Given the description of an element on the screen output the (x, y) to click on. 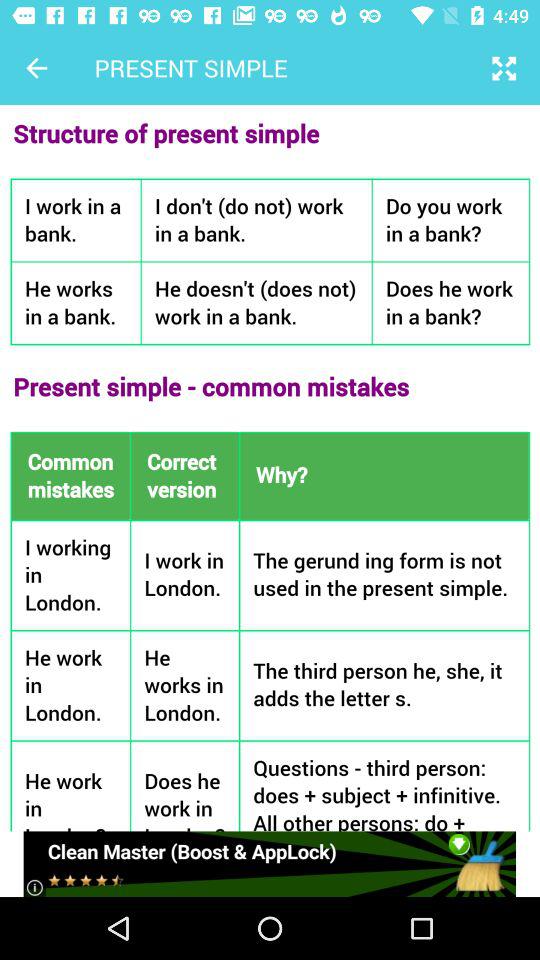
advertisement page (269, 864)
